Given the description of an element on the screen output the (x, y) to click on. 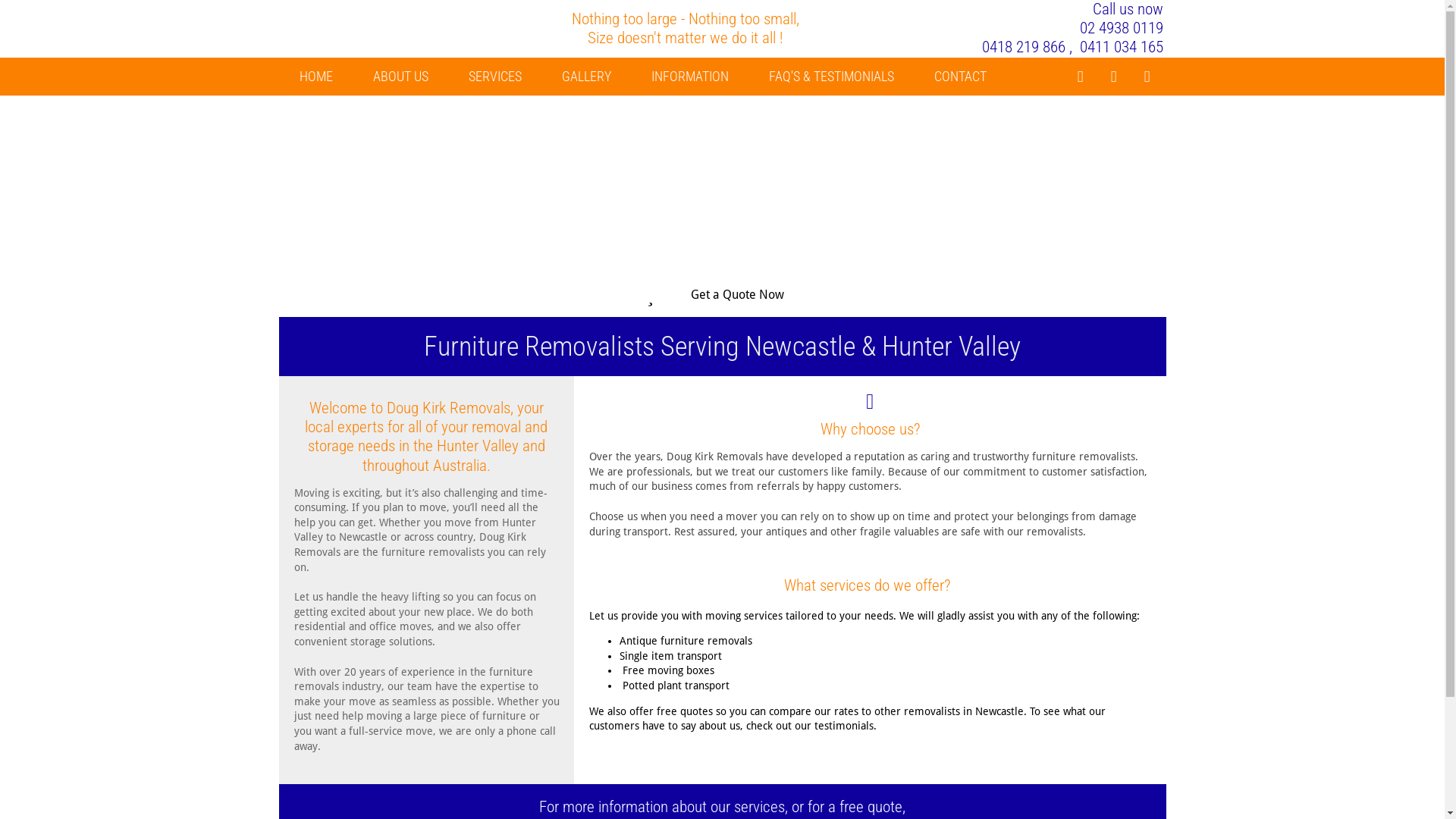
SERVICES Element type: text (494, 76)
0411 034 165 Element type: text (1121, 46)
CONTACT Element type: text (960, 76)
INFORMATION Element type: text (689, 76)
FAQ'S & TESTIMONIALS Element type: text (831, 76)
02 4938 0119 Element type: text (1121, 27)
Get a Quote Now Element type: text (721, 294)
0418 219 866 Element type: text (1023, 46)
testimonials Element type: text (843, 725)
HOME Element type: text (315, 76)
GALLERY Element type: text (585, 76)
ABOUT US Element type: text (400, 76)
